Given the description of an element on the screen output the (x, y) to click on. 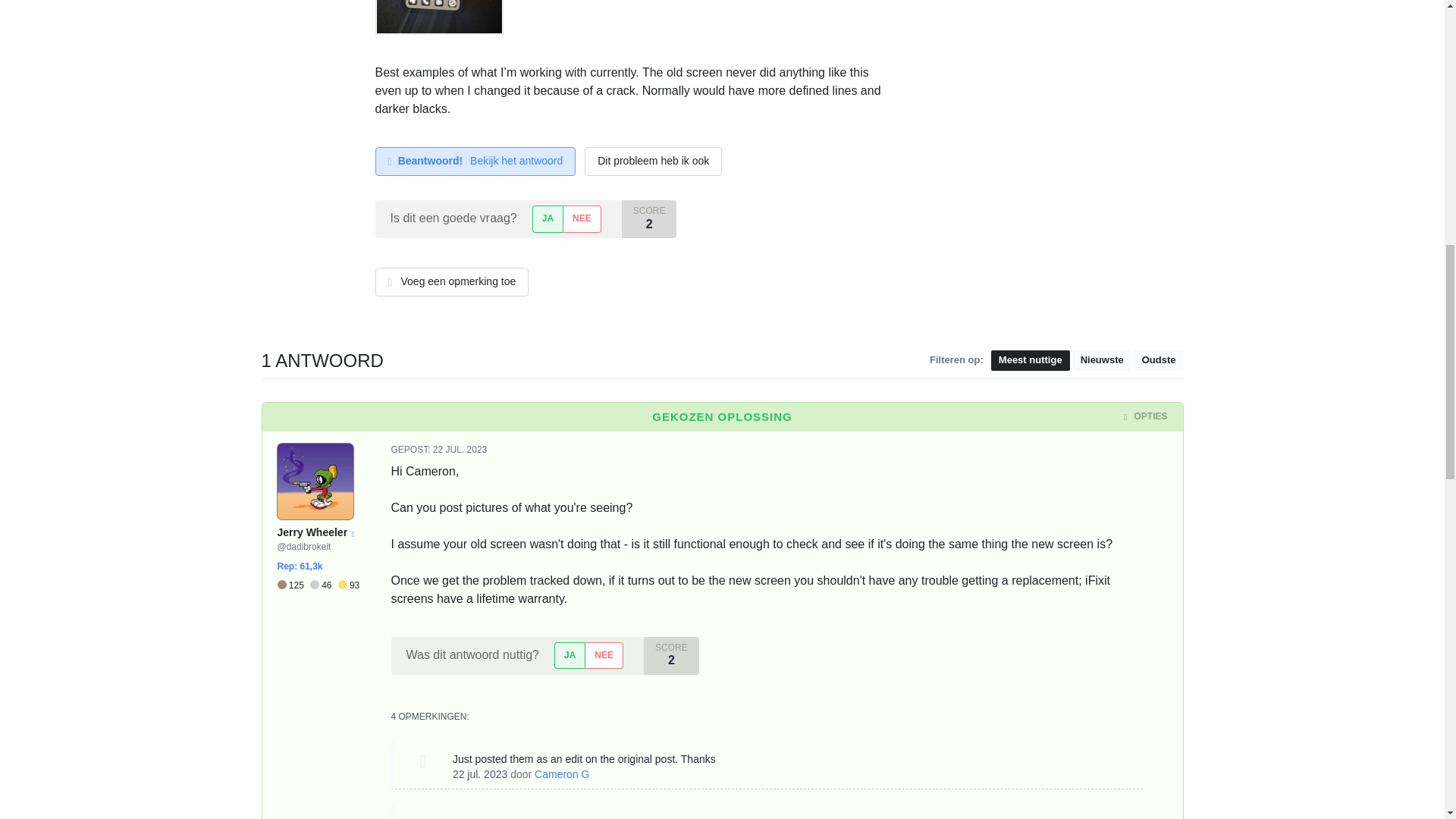
Sat, 22 Jul 2023 16:22:47 -0700 (459, 449)
Dit probleem heb ik ook (653, 161)
125 Brons badges (294, 585)
Beantwoord! Bekijk het antwoord (474, 161)
Sat, 22 Jul 2023 21:15:29 -0700 (479, 774)
93 Goud badges (348, 585)
46 Zilver badges (323, 585)
